Given the description of an element on the screen output the (x, y) to click on. 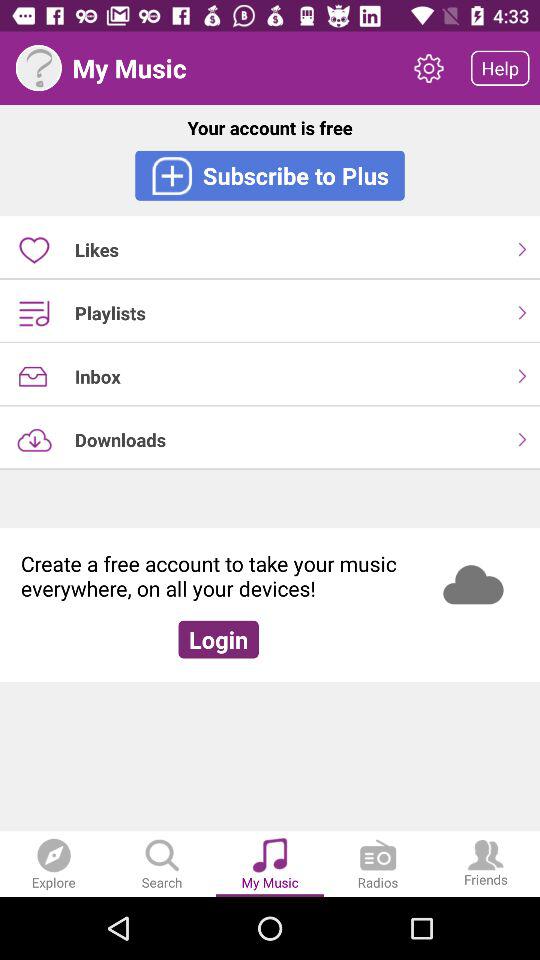
help selection (38, 68)
